Given the description of an element on the screen output the (x, y) to click on. 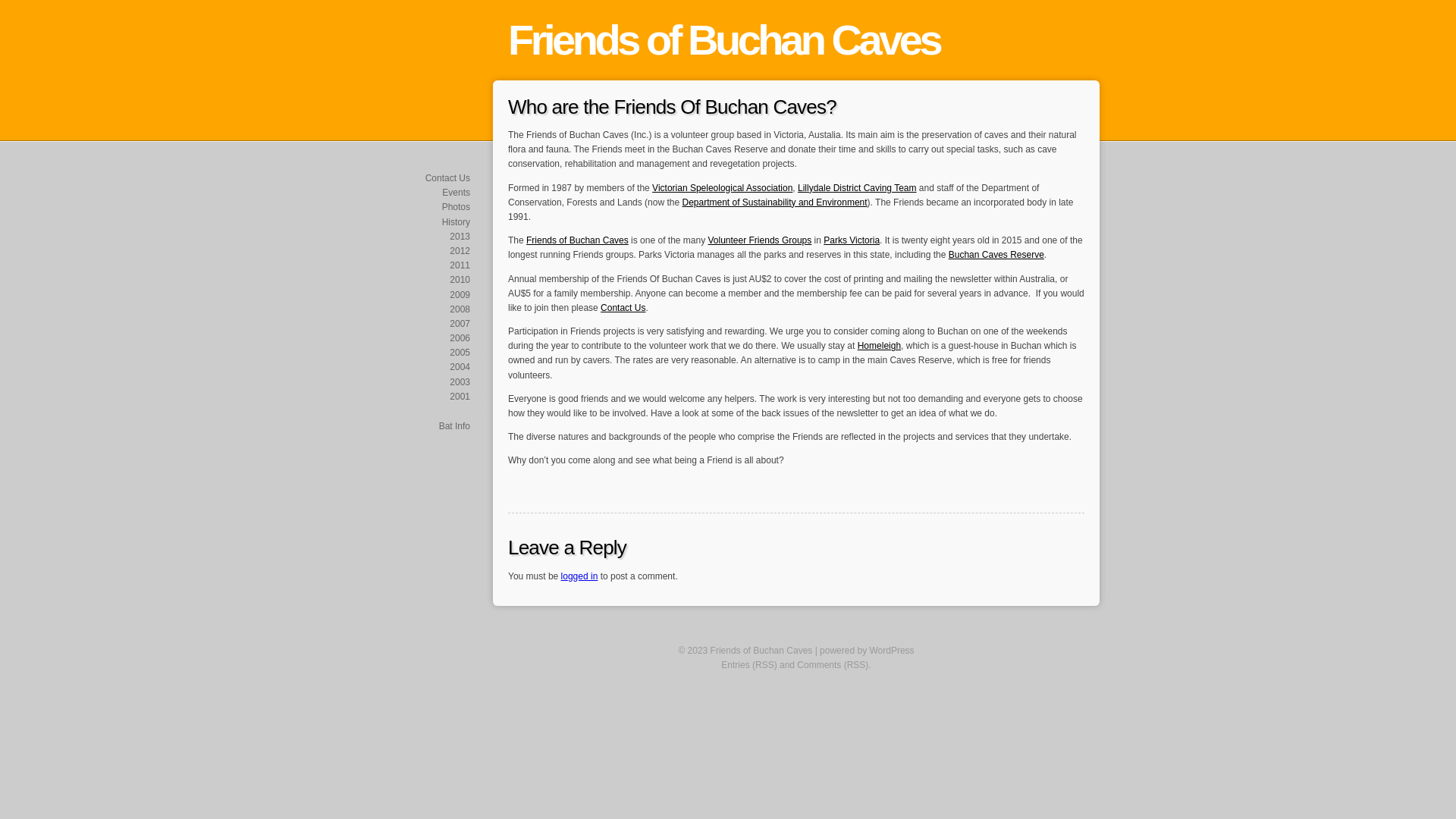
Photos Element type: text (456, 206)
2011 Element type: text (459, 265)
Department of Sustainability and Environment Element type: text (773, 202)
Friends of Buchan Caves Element type: text (577, 240)
logged in Element type: text (579, 576)
2003 Element type: text (459, 381)
Bat Info Element type: text (454, 425)
Lillydale District Caving Team Element type: text (856, 187)
Volunteer Friends Groups Element type: text (760, 240)
2010 Element type: text (459, 279)
2005 Element type: text (459, 352)
Contact Us Element type: text (622, 307)
Comments (RSS) Element type: text (832, 664)
History Element type: text (456, 221)
2013 Element type: text (459, 236)
Victorian Speleological Association Element type: text (722, 187)
WordPress Element type: text (891, 650)
2009 Element type: text (459, 294)
2001 Element type: text (459, 396)
Parks Victoria Element type: text (851, 240)
Events Element type: text (456, 192)
Buchan Caves Reserve Element type: text (996, 254)
2006 Element type: text (459, 337)
2004 Element type: text (459, 366)
2007 Element type: text (459, 323)
Entries (RSS) Element type: text (748, 664)
2008 Element type: text (459, 309)
Contact Us Element type: text (447, 177)
2012 Element type: text (459, 250)
Homeleigh Element type: text (878, 345)
Friends of Buchan Caves Element type: text (723, 39)
